Given the description of an element on the screen output the (x, y) to click on. 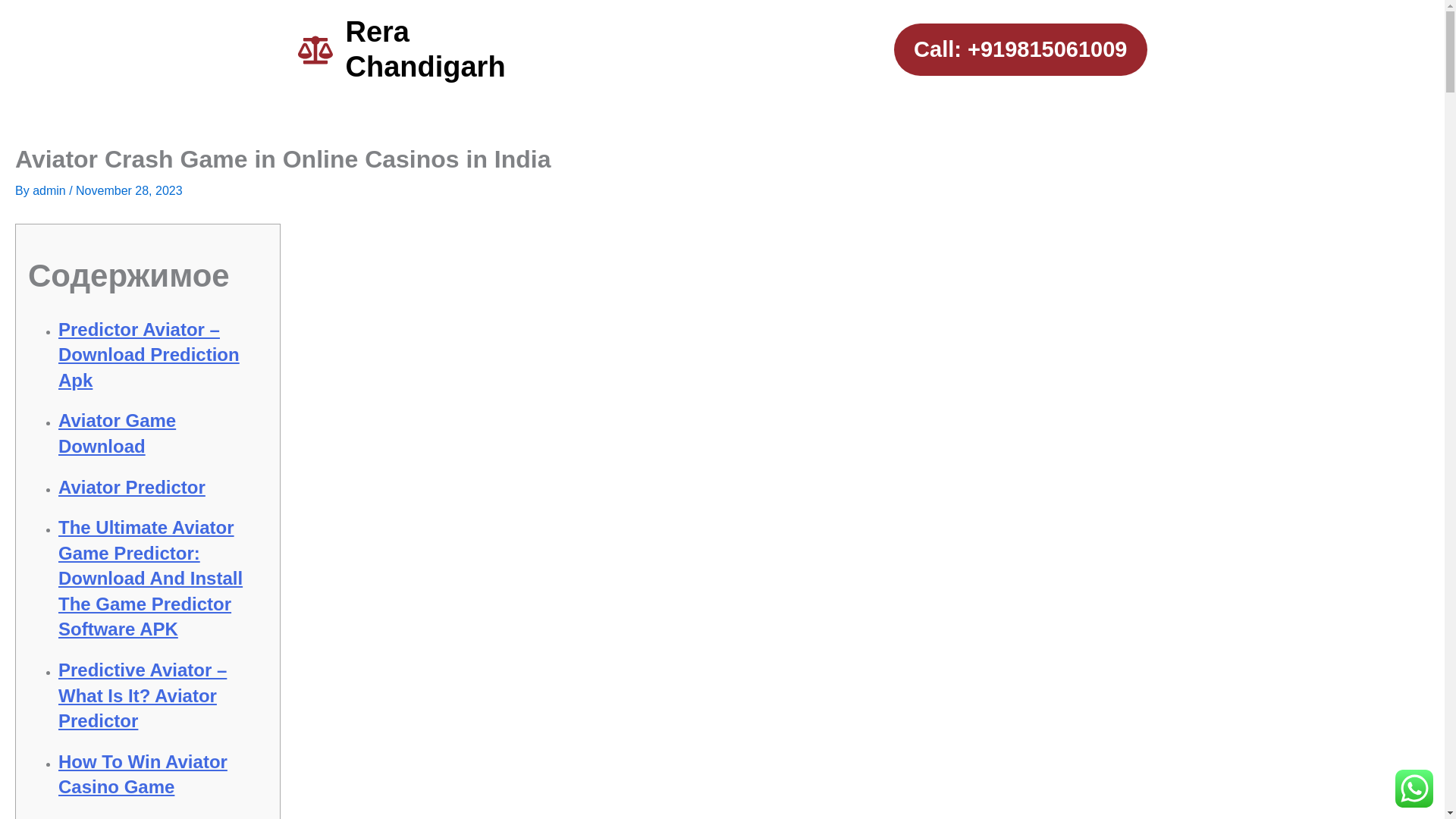
View all posts by admin (50, 190)
Aviator Game Download (117, 818)
How To Win Aviator Casino Game (142, 774)
Rera Chandigarh (425, 48)
Aviator Game Download (117, 433)
admin (50, 190)
Aviator Predictor (131, 486)
